Given the description of an element on the screen output the (x, y) to click on. 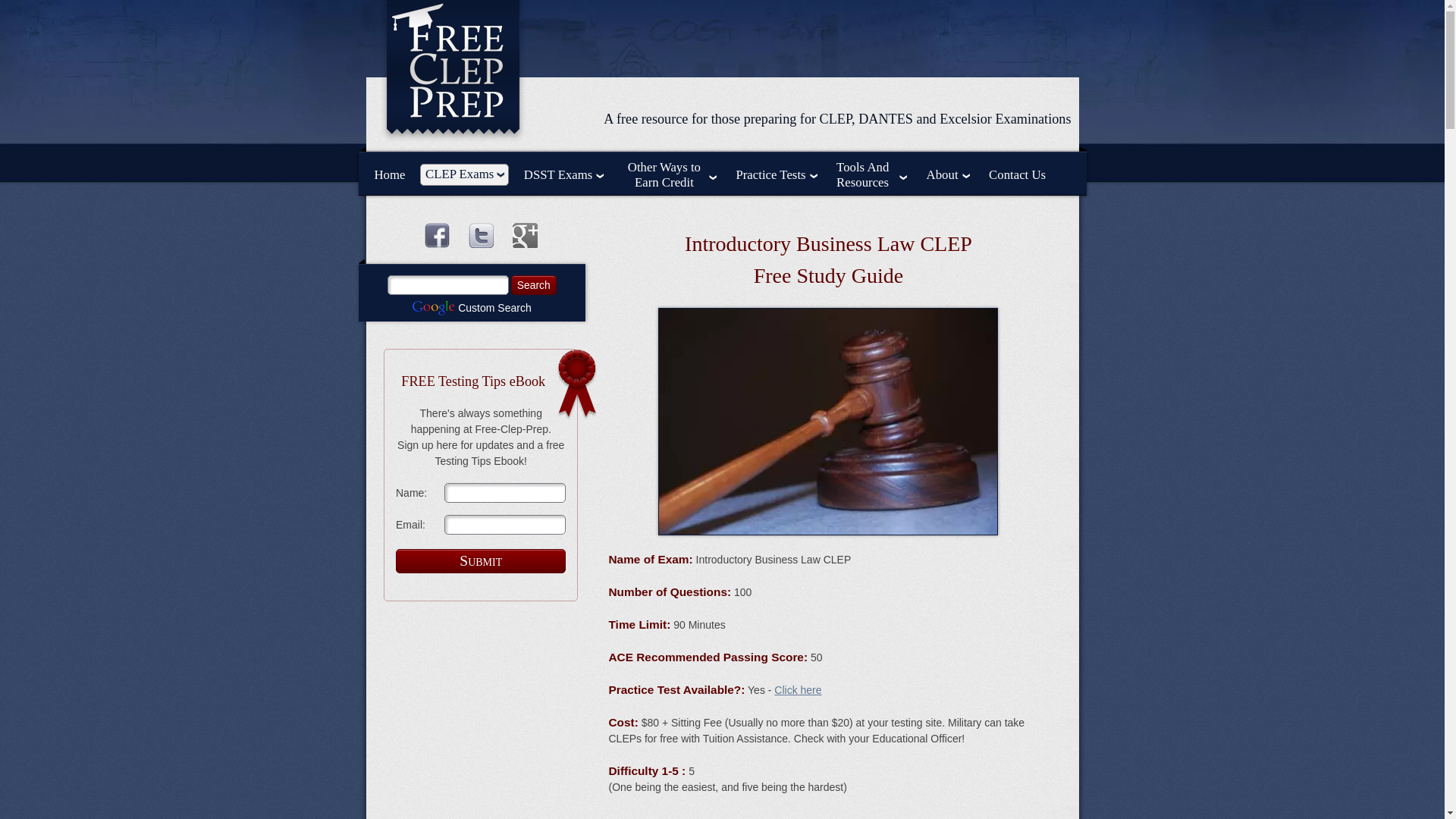
Search (533, 284)
Submit (481, 560)
About (947, 174)
Practice Tests (775, 174)
Submit (481, 560)
Other Ways to Earn Credit (669, 175)
Search (533, 284)
Home (389, 174)
Tools And Resources (871, 175)
DSST Exams (563, 174)
Advertisement (827, 815)
Contact Us (1016, 174)
CLEP Exams (464, 174)
